Given the description of an element on the screen output the (x, y) to click on. 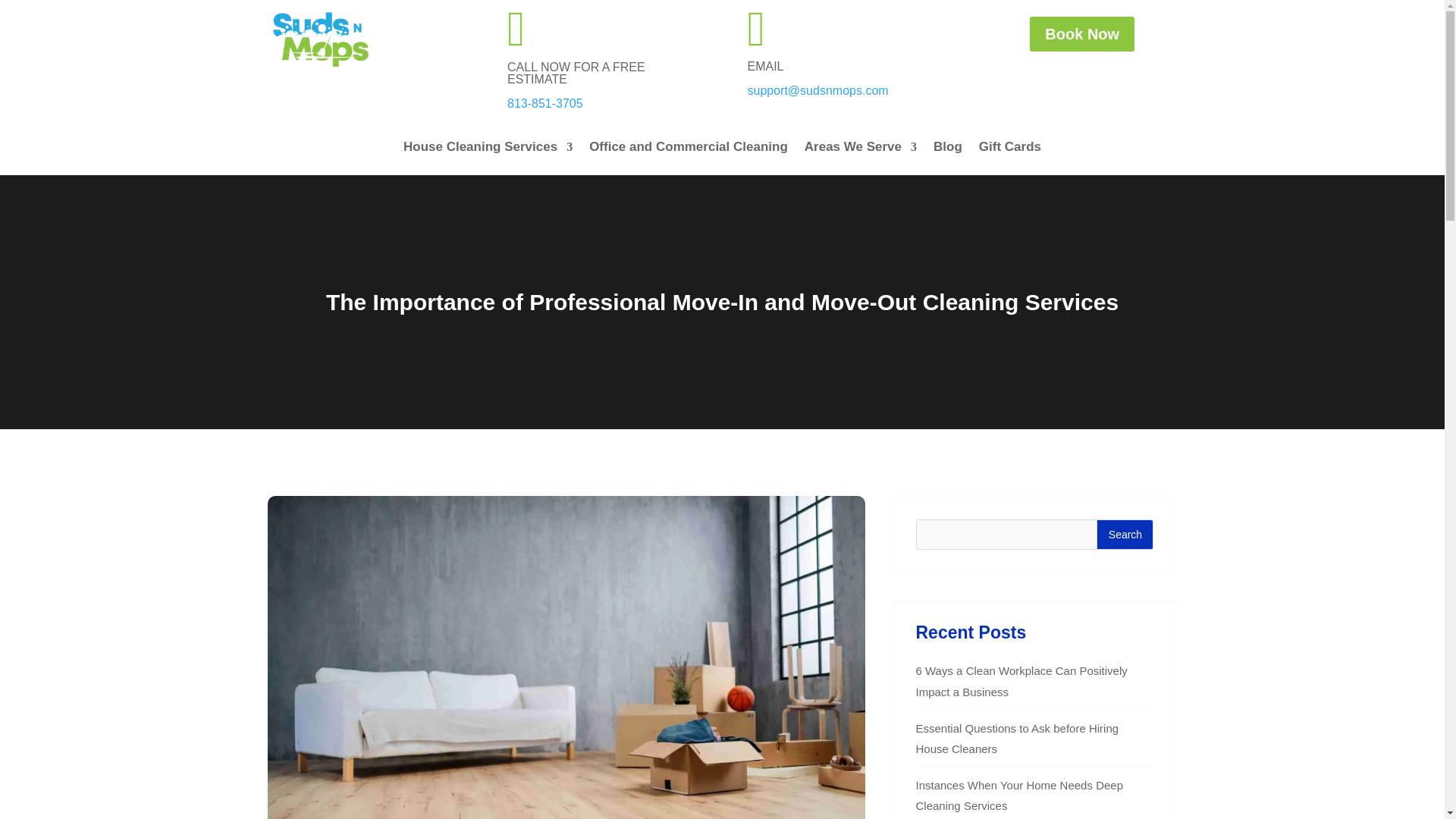
Book Now (1081, 33)
Gift Cards (1009, 149)
House Cleaning Services (487, 149)
Areas We Serve (861, 149)
Office and Commercial Cleaning (688, 149)
Blog (947, 149)
813-851-3705 (544, 103)
